Given the description of an element on the screen output the (x, y) to click on. 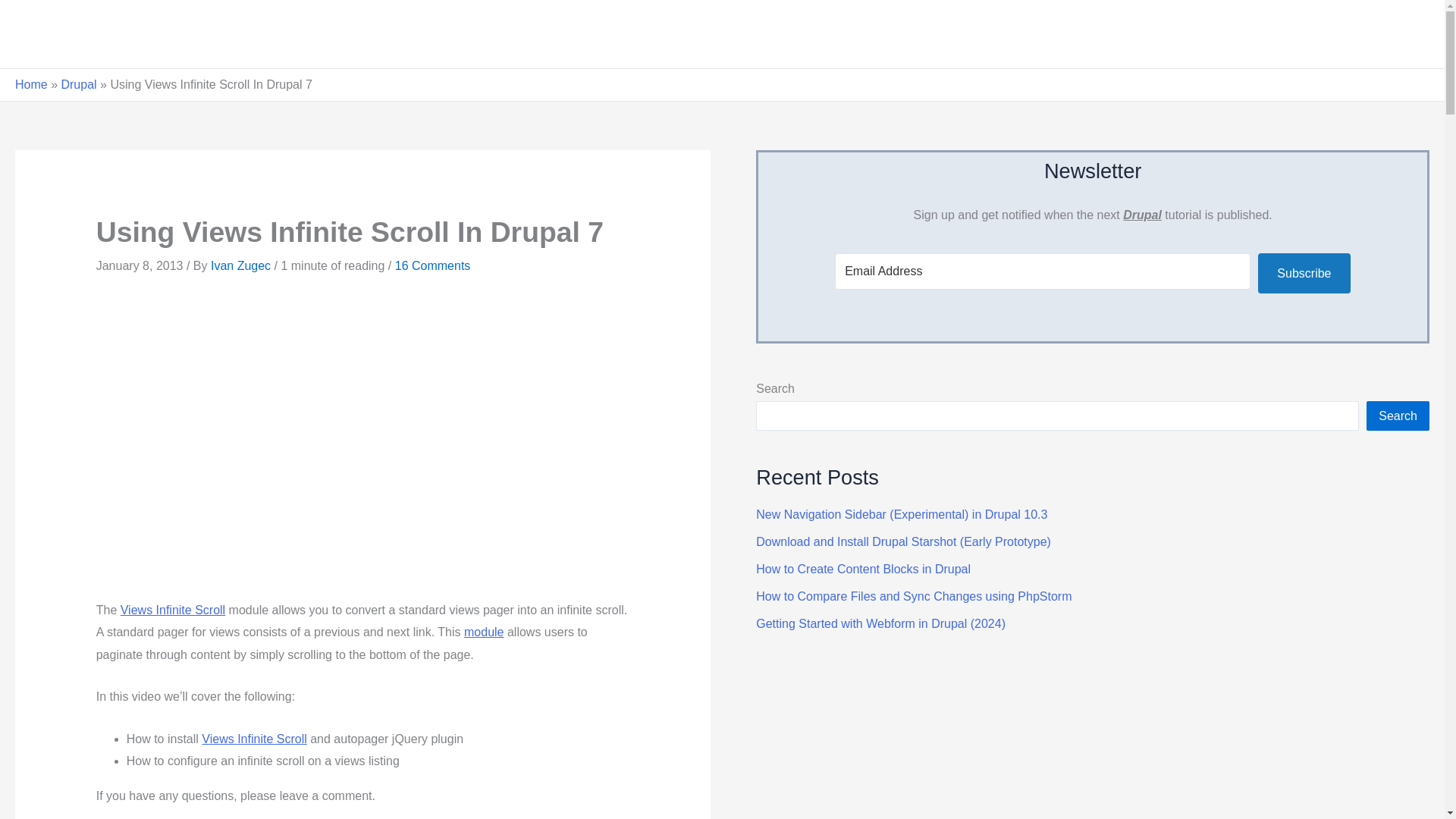
Consulting (1375, 33)
Views Infinite Scroll (253, 738)
View all posts by Ivan Zugec (243, 265)
Blog (1290, 33)
Views Infinite Scroll (172, 609)
module (483, 631)
Drupal (78, 83)
Courses (1214, 33)
Ivan Zugec (243, 265)
